Given the description of an element on the screen output the (x, y) to click on. 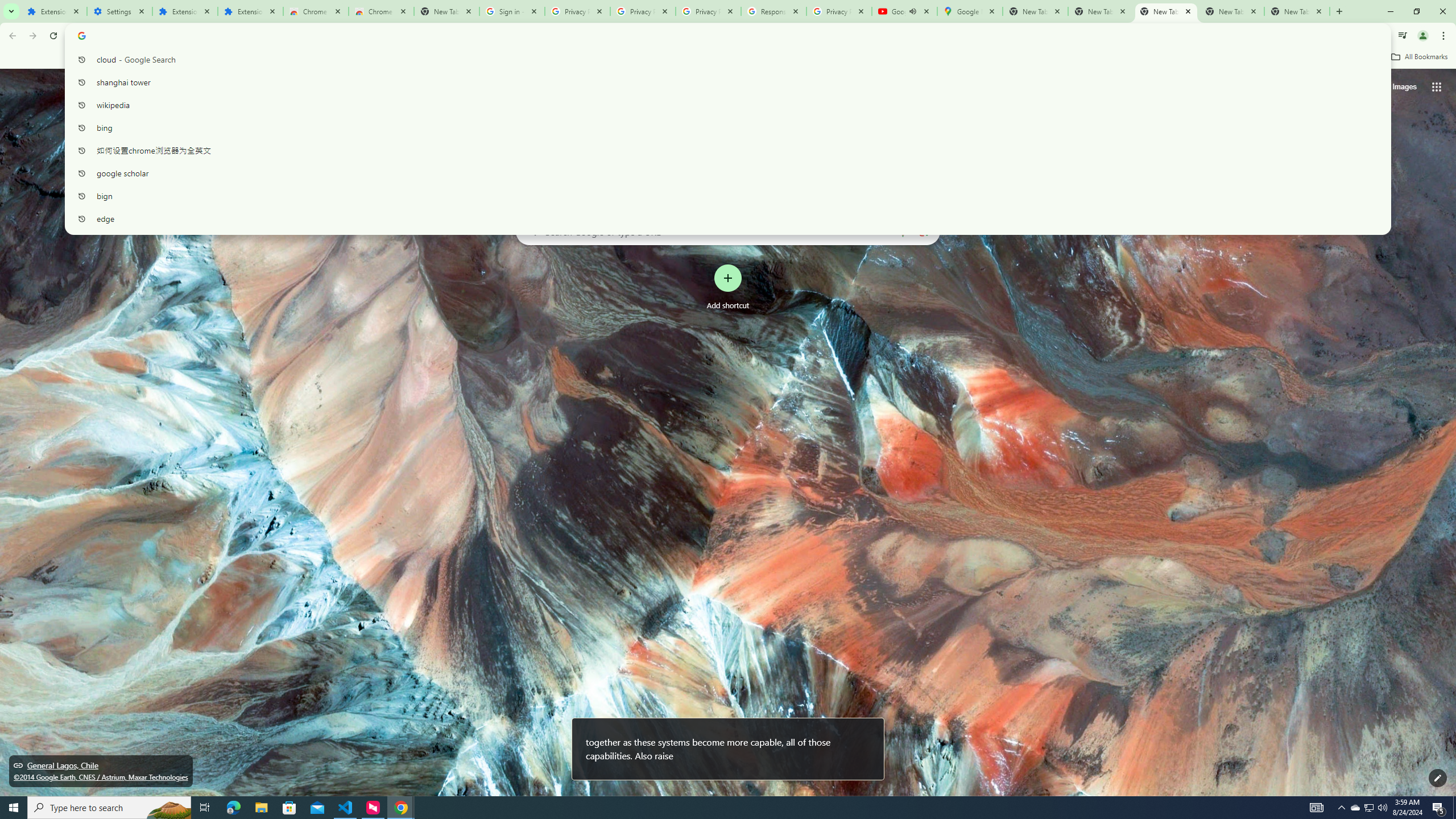
Mute tab (912, 10)
shanghai tower search from history (723, 82)
Settings (119, 11)
Sign in - Google Accounts (512, 11)
cloud search from history (723, 59)
Google Maps (969, 11)
